Given the description of an element on the screen output the (x, y) to click on. 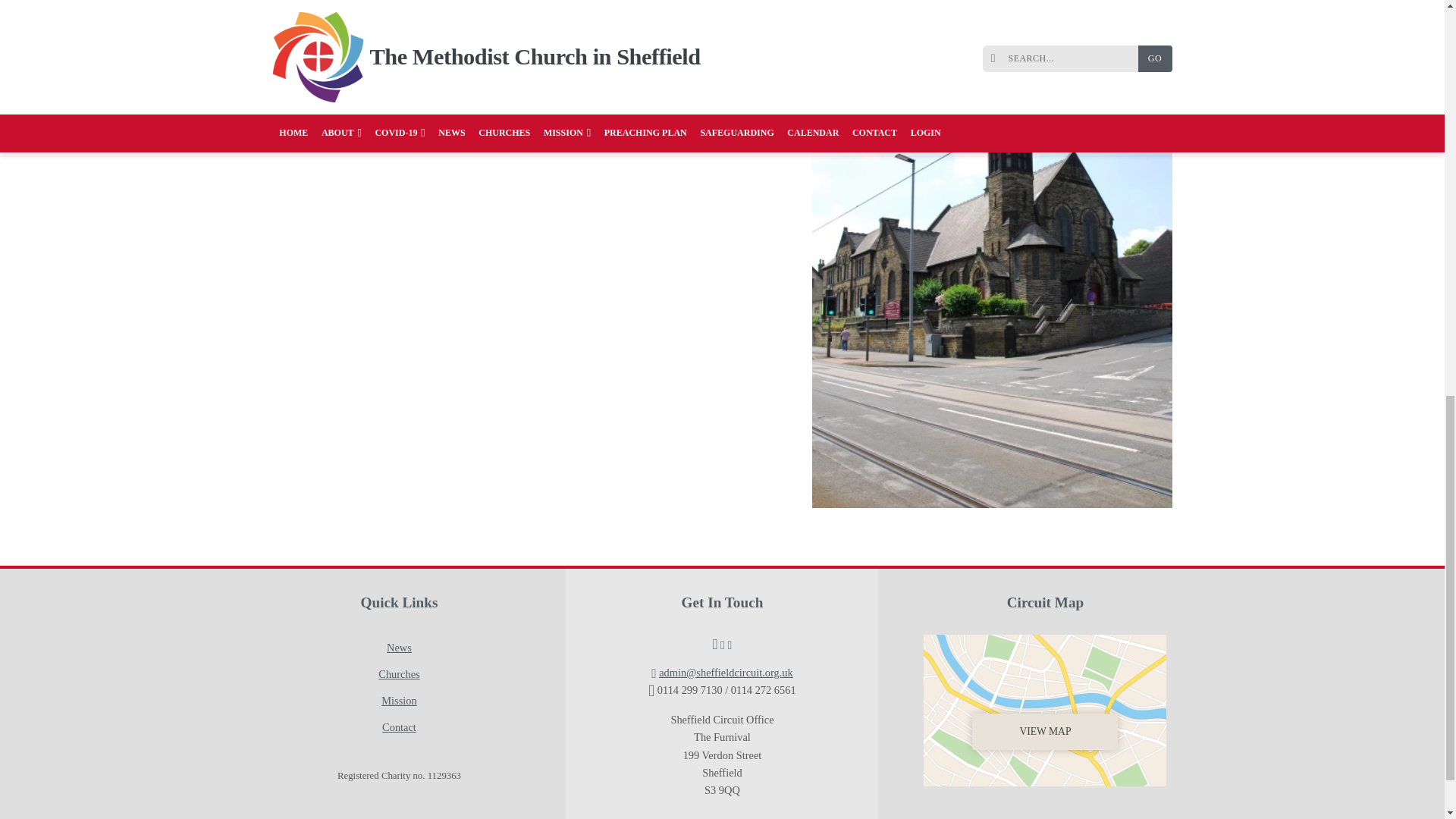
News (398, 647)
Churches (398, 673)
